Given the description of an element on the screen output the (x, y) to click on. 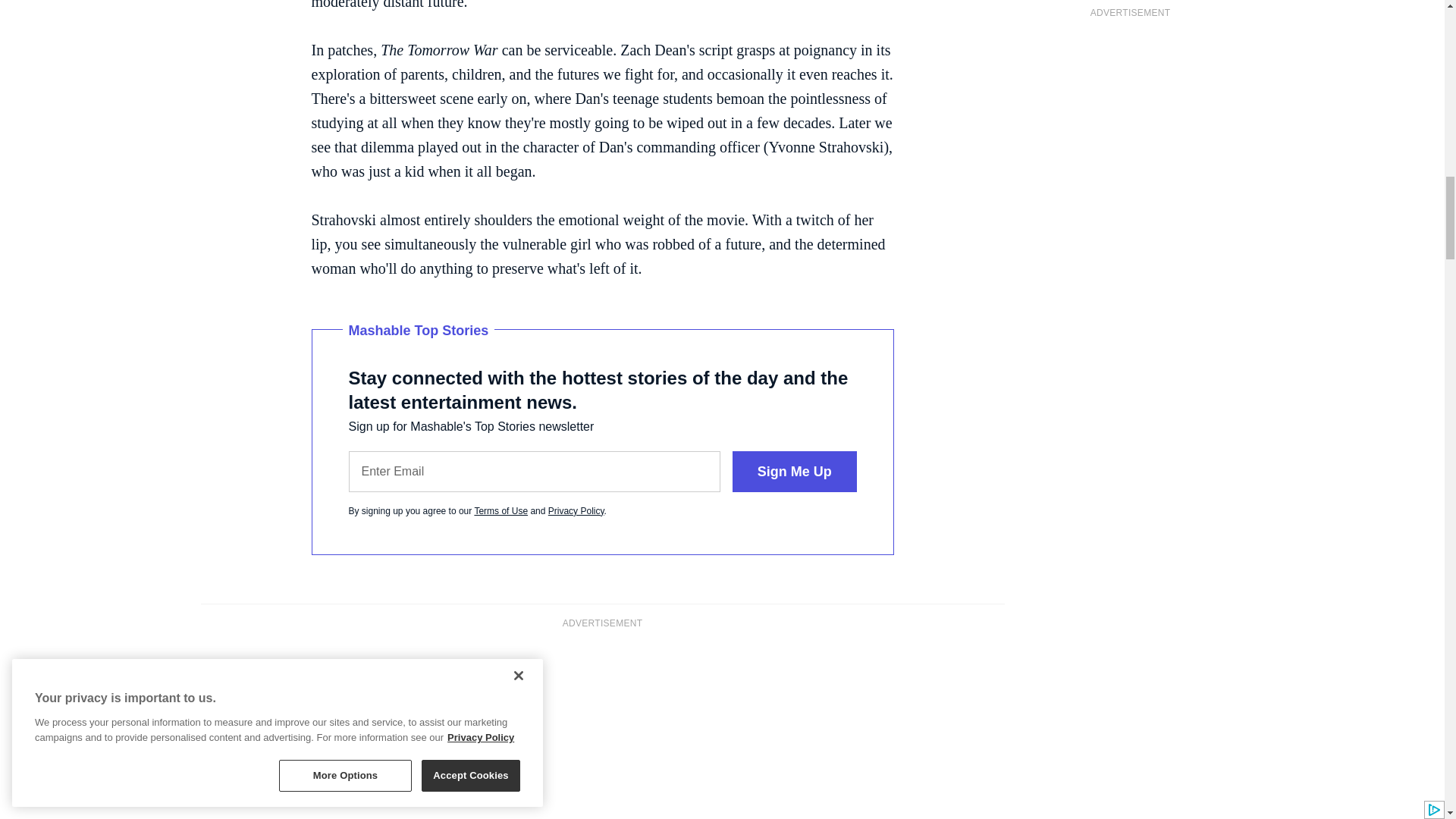
3rd party ad content (601, 733)
